Given the description of an element on the screen output the (x, y) to click on. 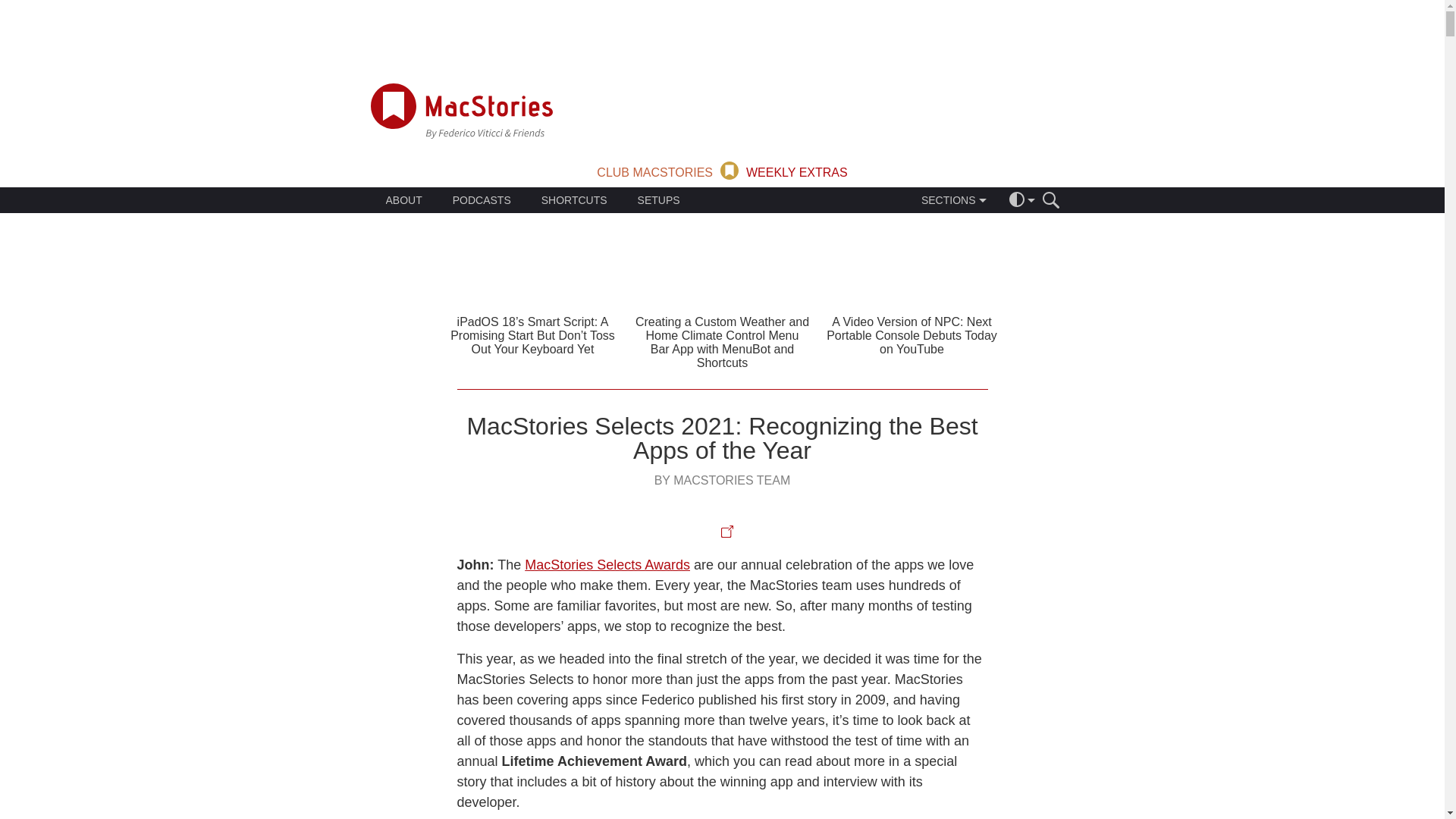
PODCASTS (481, 199)
CLUB MACSTORIESWEEKLY EXTRAS (721, 169)
BY MACSTORIES TEAM (721, 480)
MacStories Selects Awards (607, 564)
SHORTCUTS (574, 199)
ABOUT (403, 199)
